Given the description of an element on the screen output the (x, y) to click on. 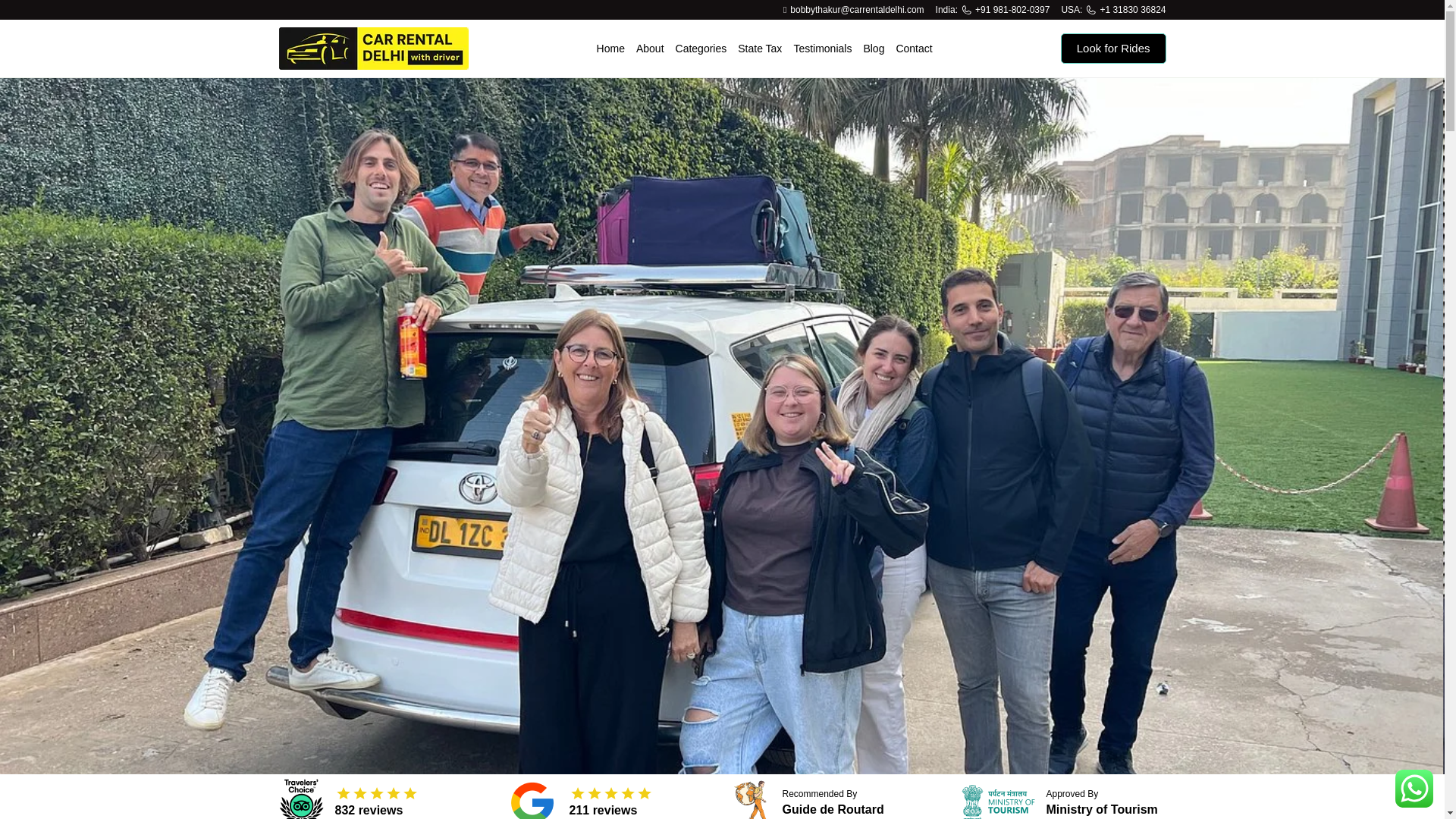
Blog (873, 48)
Contact (913, 48)
State Tax (759, 48)
Look for Rides (1113, 48)
Categories (700, 48)
About (649, 48)
Testimonials (822, 48)
Home (610, 48)
